Given the description of an element on the screen output the (x, y) to click on. 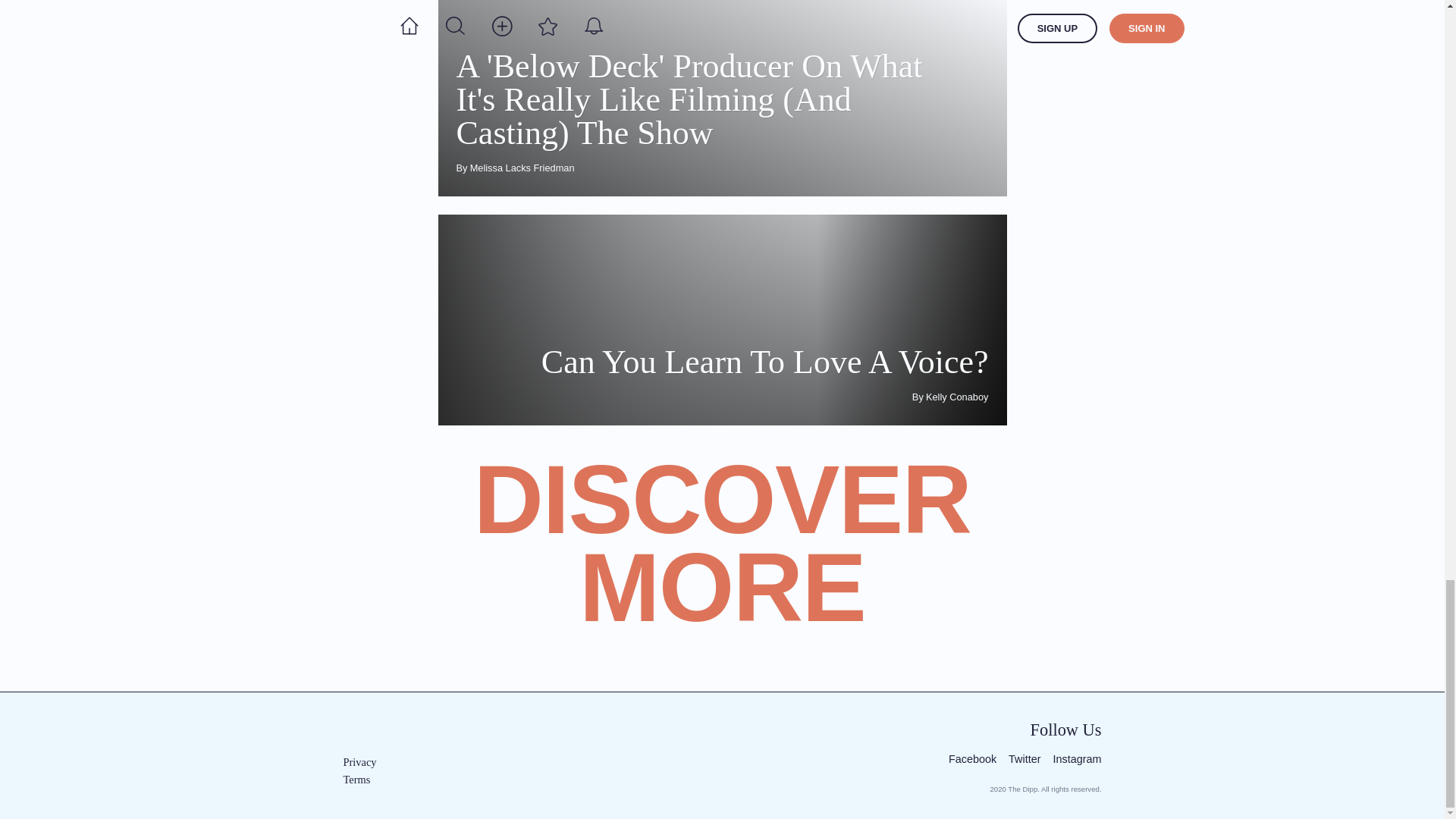
Dipp (384, 732)
Twitter (1025, 759)
Facebook (972, 759)
DISCOVER MORE (722, 560)
Privacy (377, 762)
Instagram (1076, 759)
Terms (722, 319)
